Given the description of an element on the screen output the (x, y) to click on. 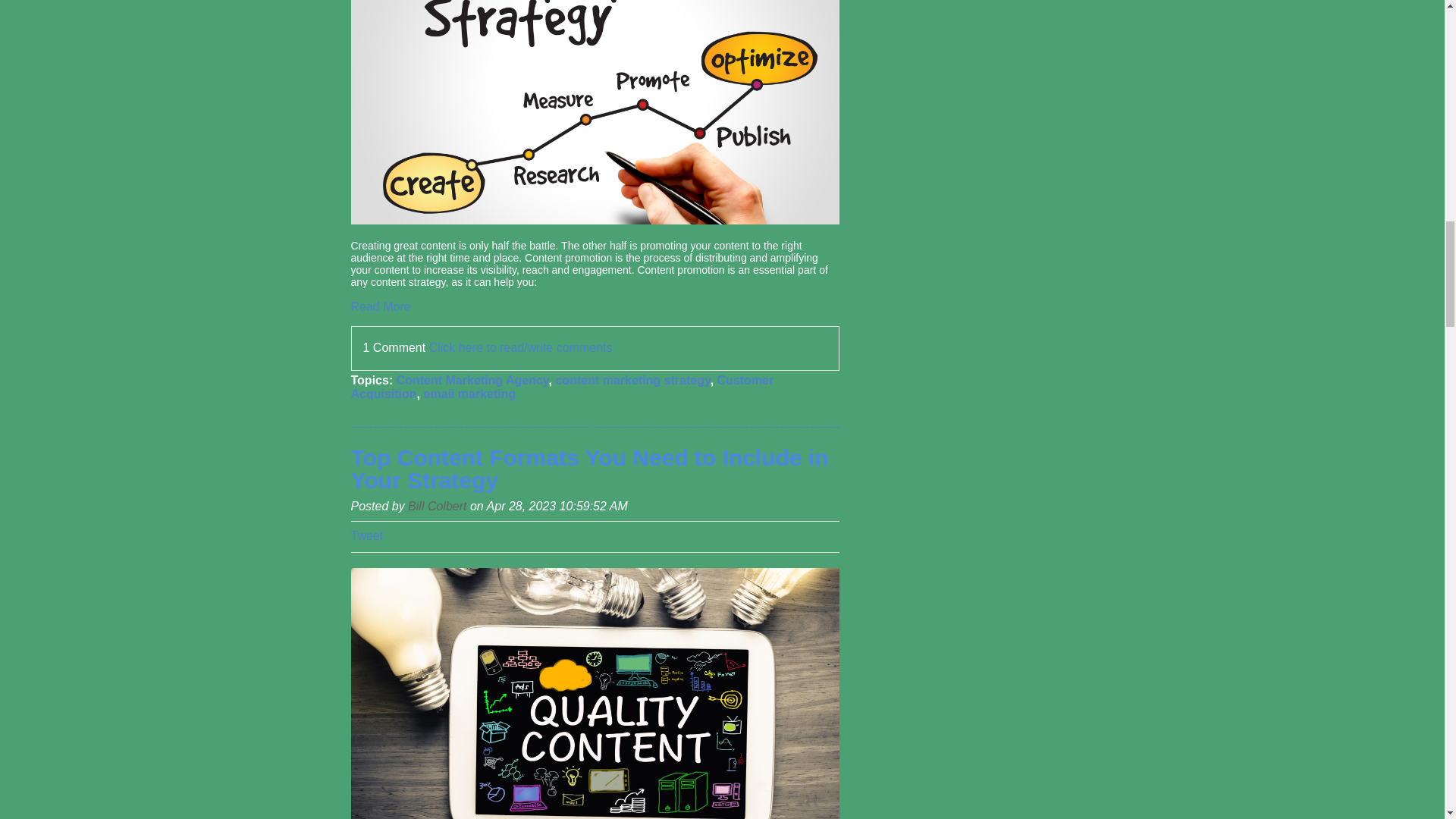
Read More (380, 306)
Content Marketing Agency (472, 379)
Bill Colbert (436, 505)
email marketing (469, 393)
content marketing strategy (632, 379)
Tweet (366, 535)
Customer Acquisition (561, 386)
Top Content Formats You Need to Include in Your Strategy (589, 469)
